Given the description of an element on the screen output the (x, y) to click on. 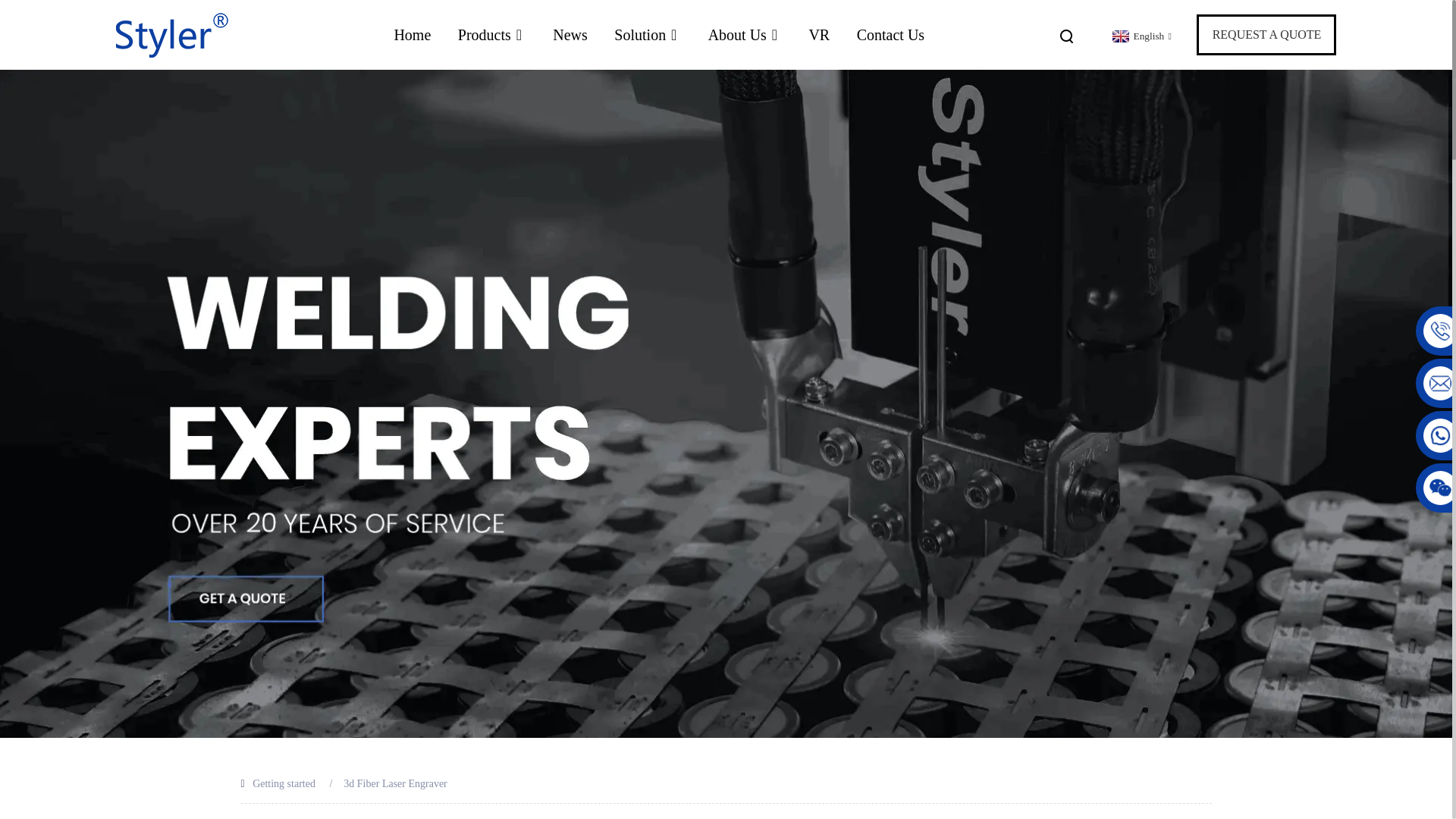
English (1140, 35)
About Us (744, 35)
Getting started (283, 783)
Home (411, 35)
Solution (647, 35)
3d Fiber Laser Engraver (394, 783)
News (570, 35)
Products (491, 35)
Contact Us (890, 35)
REQUEST A QUOTE (1266, 34)
